Given the description of an element on the screen output the (x, y) to click on. 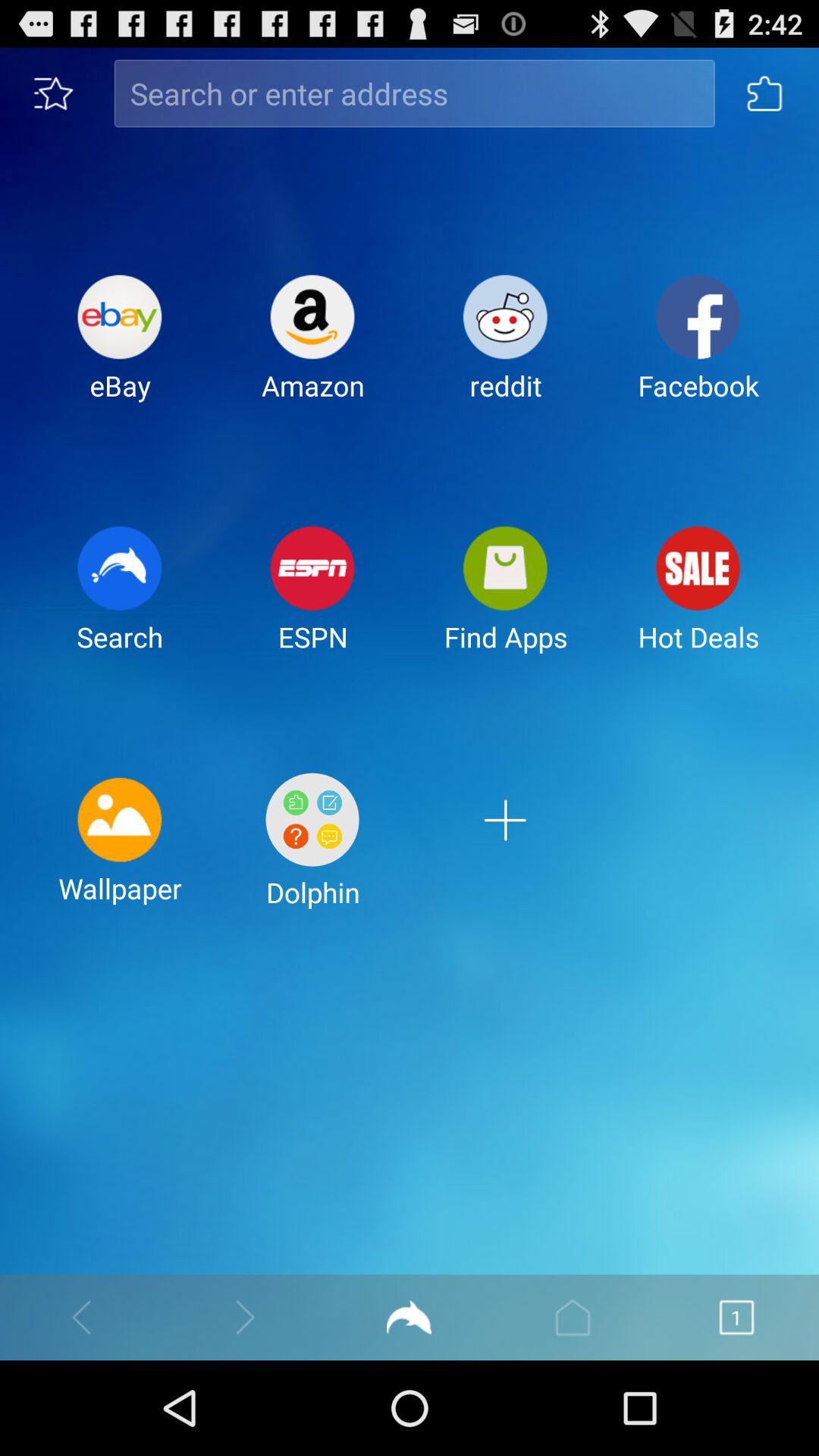
select the amazon icon (312, 349)
